Given the description of an element on the screen output the (x, y) to click on. 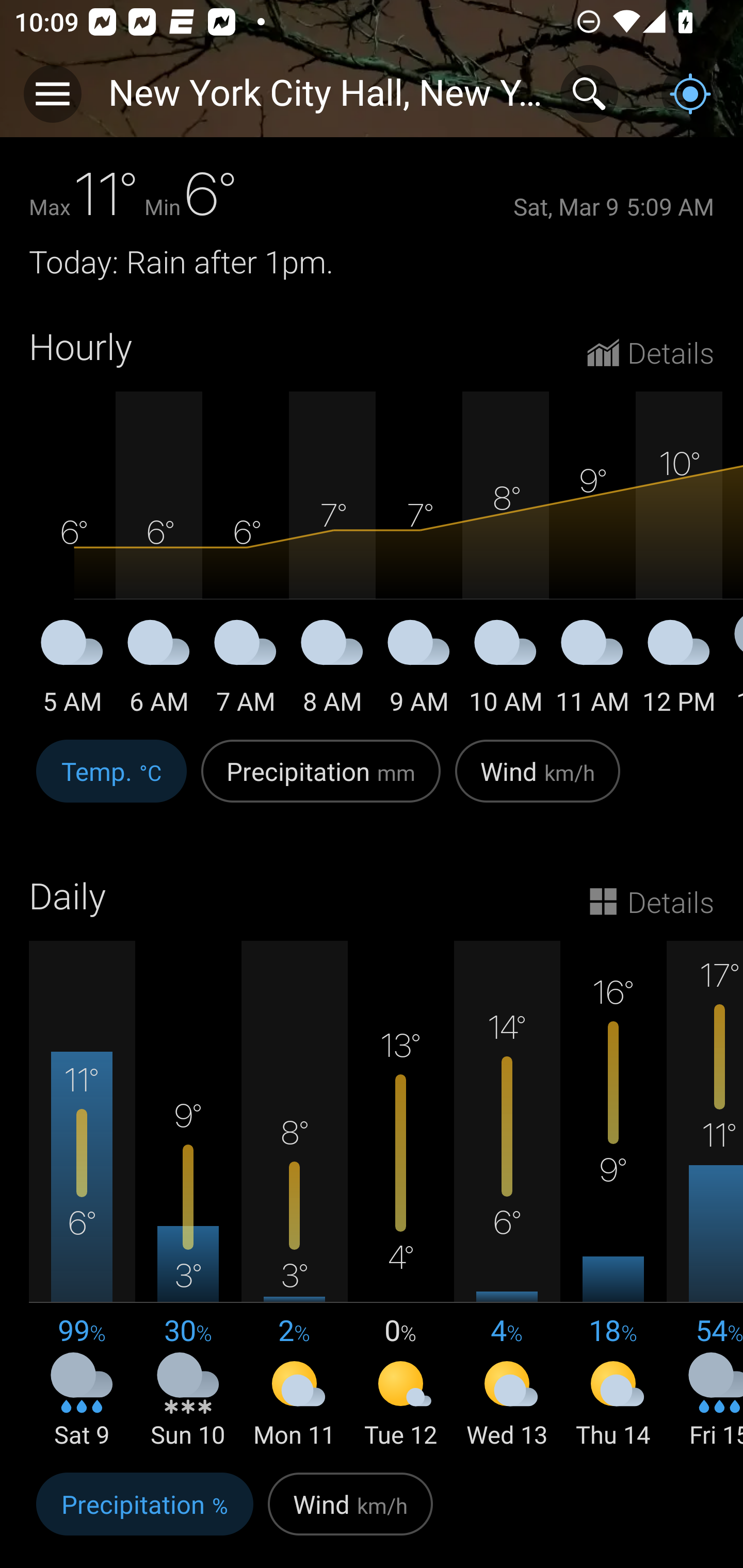
Severe Weather Alerts Gale Watch  (371, 103)
5 AM 6 AM 7 AM 8 AM 9 AM 10 AM 11 AM 12 PM 1 PM (371, 554)
5 AM (71, 670)
6 AM (158, 670)
7 AM (245, 670)
8 AM (332, 670)
9 AM (418, 670)
10 AM (505, 670)
11 AM (592, 670)
12 PM (679, 670)
Temp. °C (110, 781)
Precipitation mm (320, 781)
Wind km/h (537, 781)
11° 6° 99 % Sat 9 (81, 1195)
9° 3° 30 % Sun 10 (188, 1195)
8° 3° 2 % Mon 11 (294, 1195)
13° 4° 0 % Tue 12 (400, 1195)
14° 6° 4 % Wed 13 (506, 1195)
16° 9° 18 % Thu 14 (613, 1195)
17° 11° 54 % Fri 15 (704, 1195)
Precipitation % (144, 1515)
Wind km/h (349, 1515)
